Given the description of an element on the screen output the (x, y) to click on. 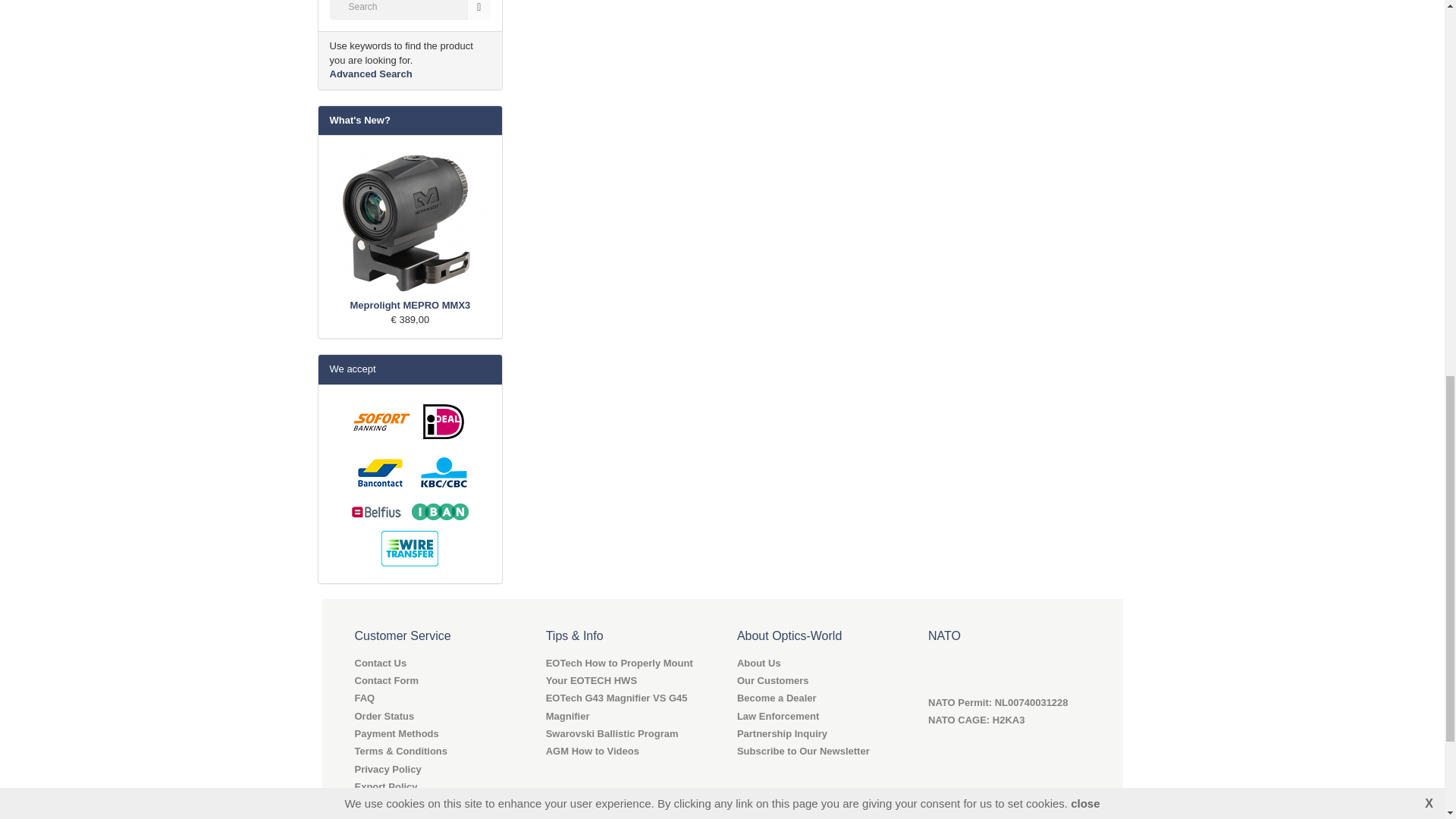
Meprolight MEPRO MMX3 (409, 222)
